Given the description of an element on the screen output the (x, y) to click on. 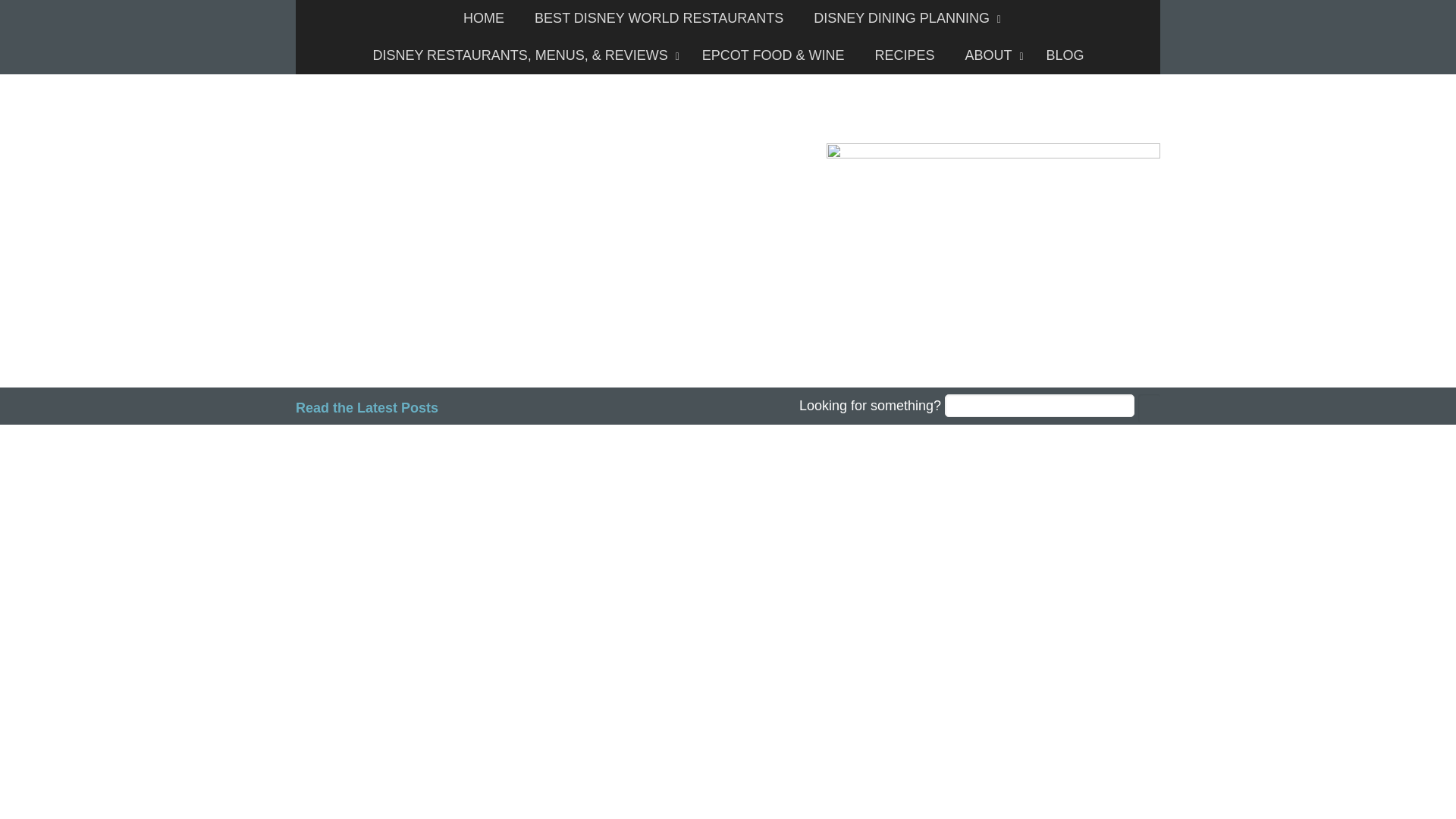
HOME (483, 18)
BEST DISNEY WORLD RESTAURANTS (658, 18)
DISNEY DINING PLANNING (903, 18)
